Given the description of an element on the screen output the (x, y) to click on. 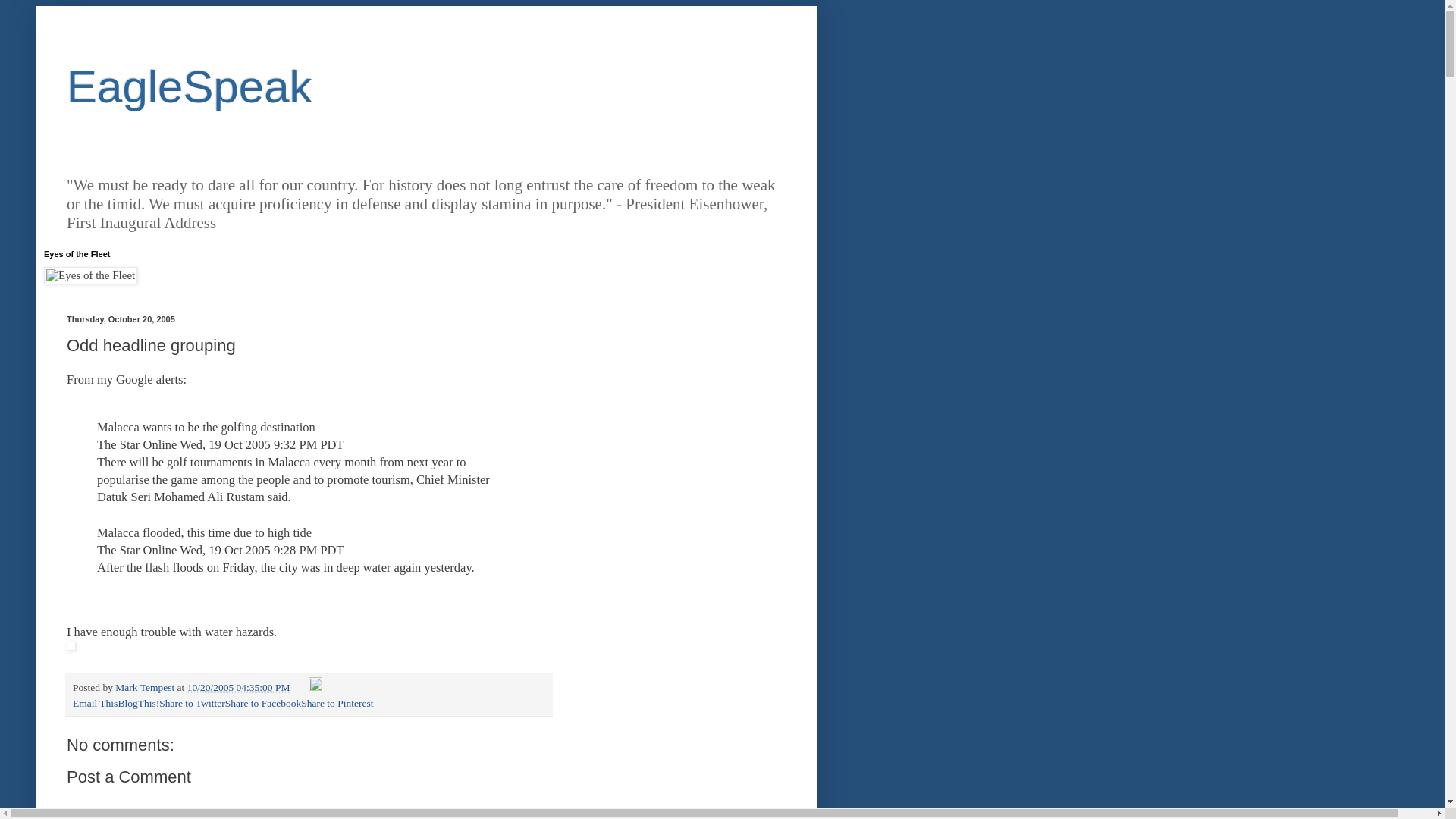
Mark Tempest (145, 686)
Share to Pinterest (336, 703)
Share to Twitter (191, 703)
Email Post (300, 686)
permanent link (238, 686)
EagleSpeak (189, 86)
Email This (94, 703)
Share to Pinterest (336, 703)
Email This (94, 703)
Share to Facebook (263, 703)
BlogThis! (137, 703)
Edit Post (314, 686)
Share to Twitter (191, 703)
Share to Facebook (263, 703)
author profile (145, 686)
